Given the description of an element on the screen output the (x, y) to click on. 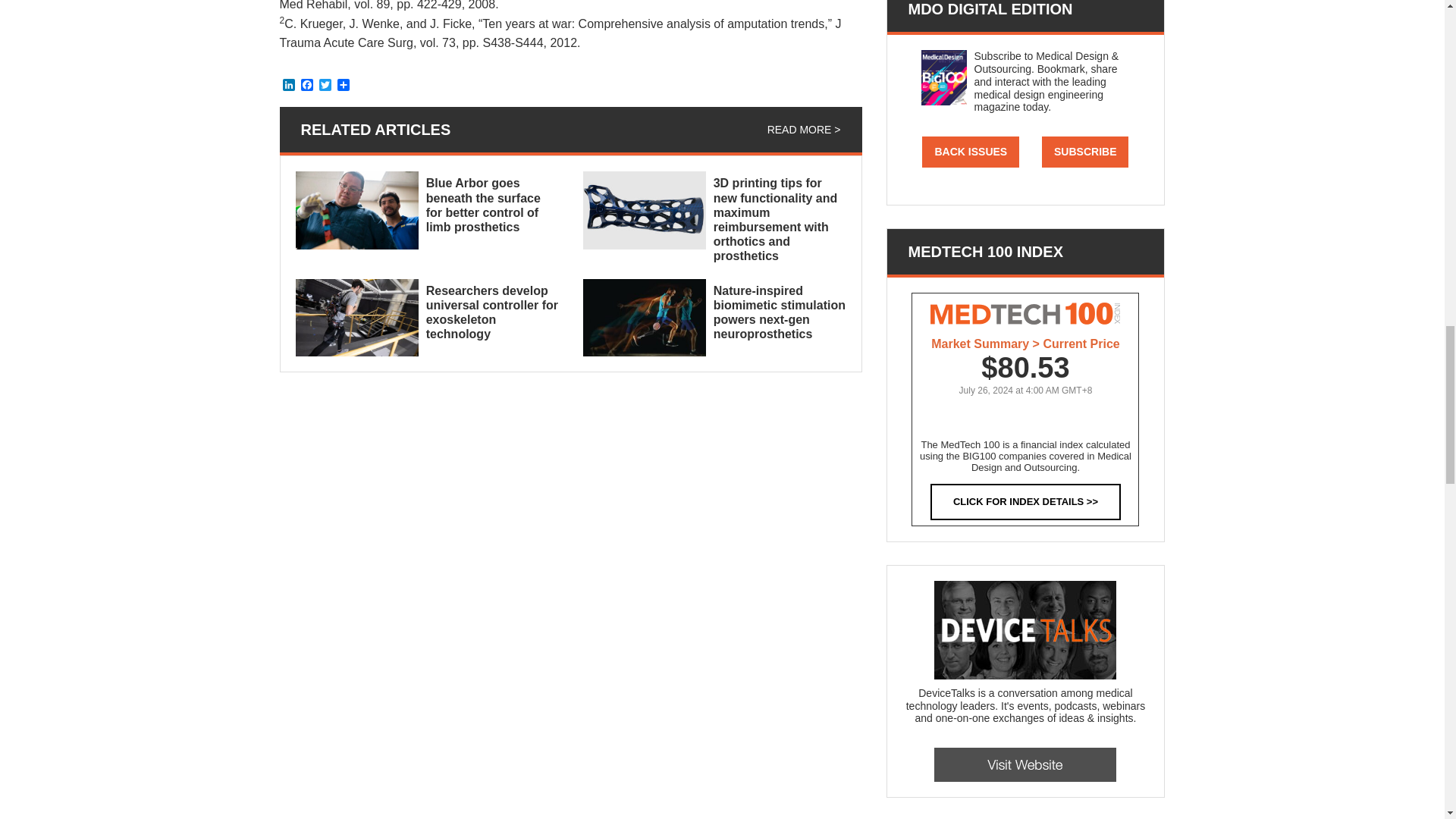
Device Talks (1025, 764)
LinkedIn (288, 85)
Facebook (306, 85)
DeviceTalks (1025, 629)
Twitter (324, 85)
